Given the description of an element on the screen output the (x, y) to click on. 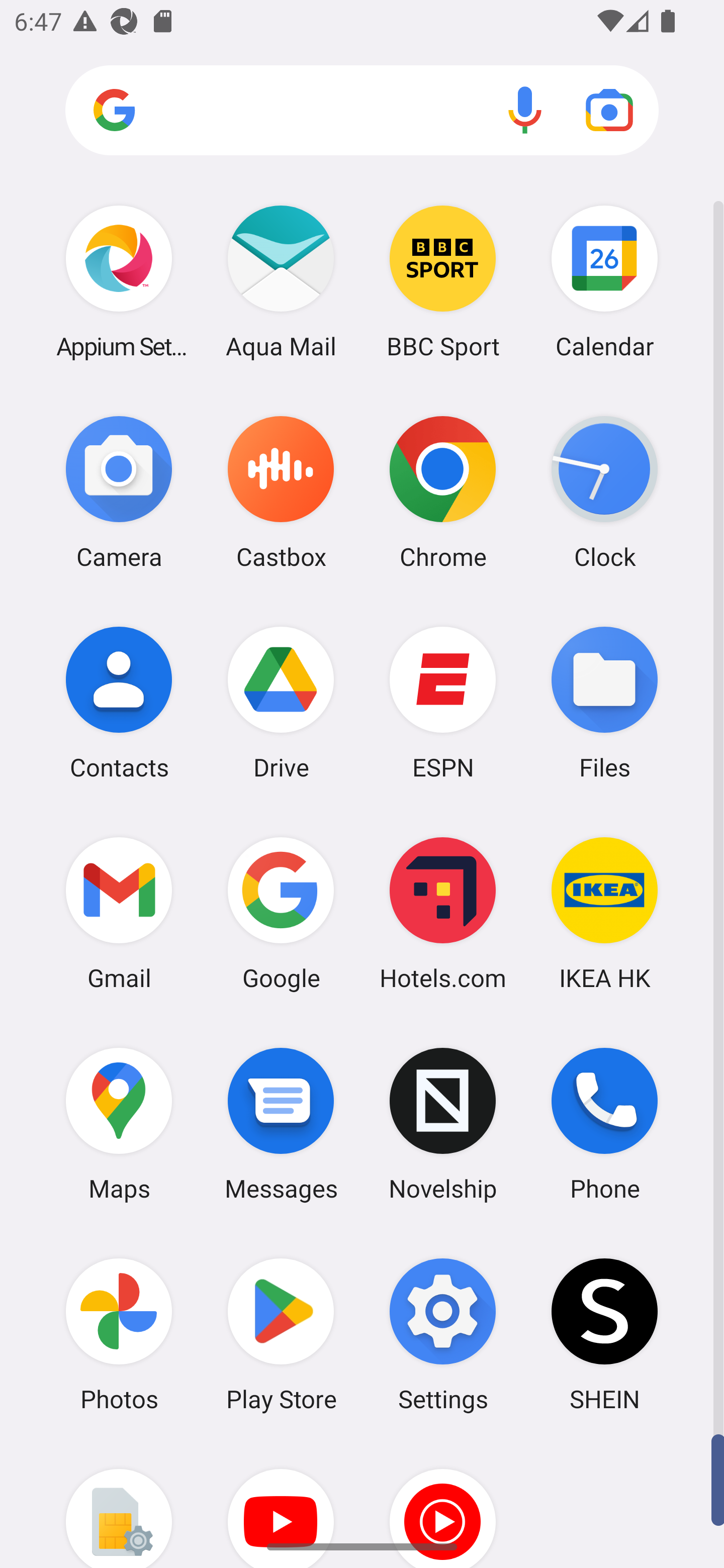
Search apps, web and more (361, 110)
Voice search (524, 109)
Google Lens (608, 109)
Appium Settings (118, 281)
Aqua Mail (280, 281)
BBC Sport (443, 281)
Calendar (604, 281)
Camera (118, 492)
Castbox (280, 492)
Chrome (443, 492)
Clock (604, 492)
Contacts (118, 702)
Drive (280, 702)
ESPN (443, 702)
Files (604, 702)
Gmail (118, 913)
Google (280, 913)
Hotels.com (443, 913)
IKEA HK (604, 913)
Maps (118, 1124)
Messages (280, 1124)
Novelship (443, 1124)
Phone (604, 1124)
Photos (118, 1334)
Play Store (280, 1334)
Settings (443, 1334)
SHEIN (604, 1334)
TMoble (118, 1503)
YouTube (280, 1503)
YT Music (443, 1503)
